Given the description of an element on the screen output the (x, y) to click on. 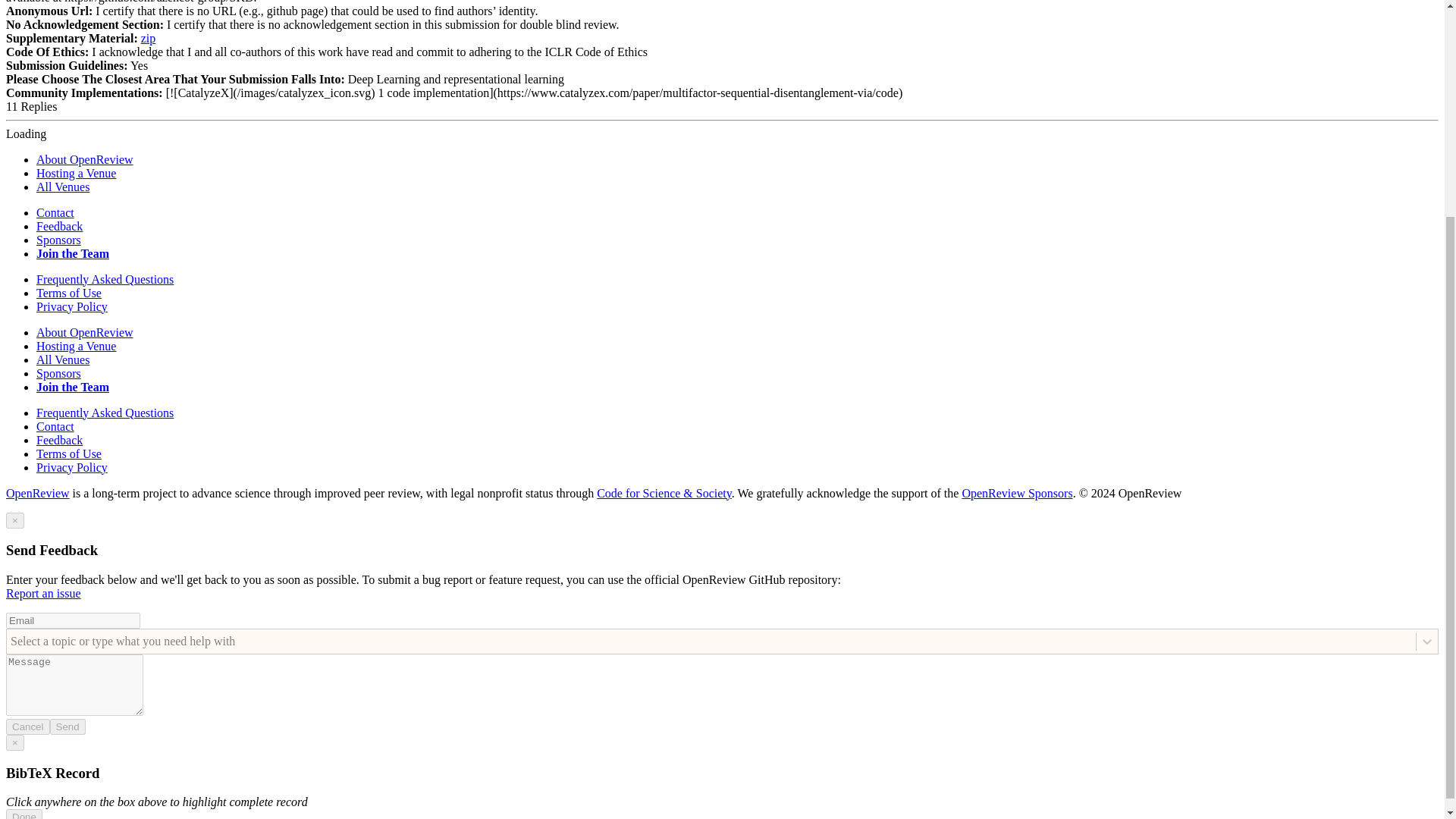
Join the Team (72, 386)
Feedback (59, 440)
Contact (55, 426)
zip (148, 38)
Report an issue (43, 593)
Frequently Asked Questions (104, 412)
Frequently Asked Questions (104, 278)
Sponsors (58, 373)
Send (67, 726)
Cancel (27, 726)
Terms of Use (68, 292)
Join the Team (72, 253)
Privacy Policy (71, 467)
OpenReview (37, 492)
About OpenReview (84, 159)
